Given the description of an element on the screen output the (x, y) to click on. 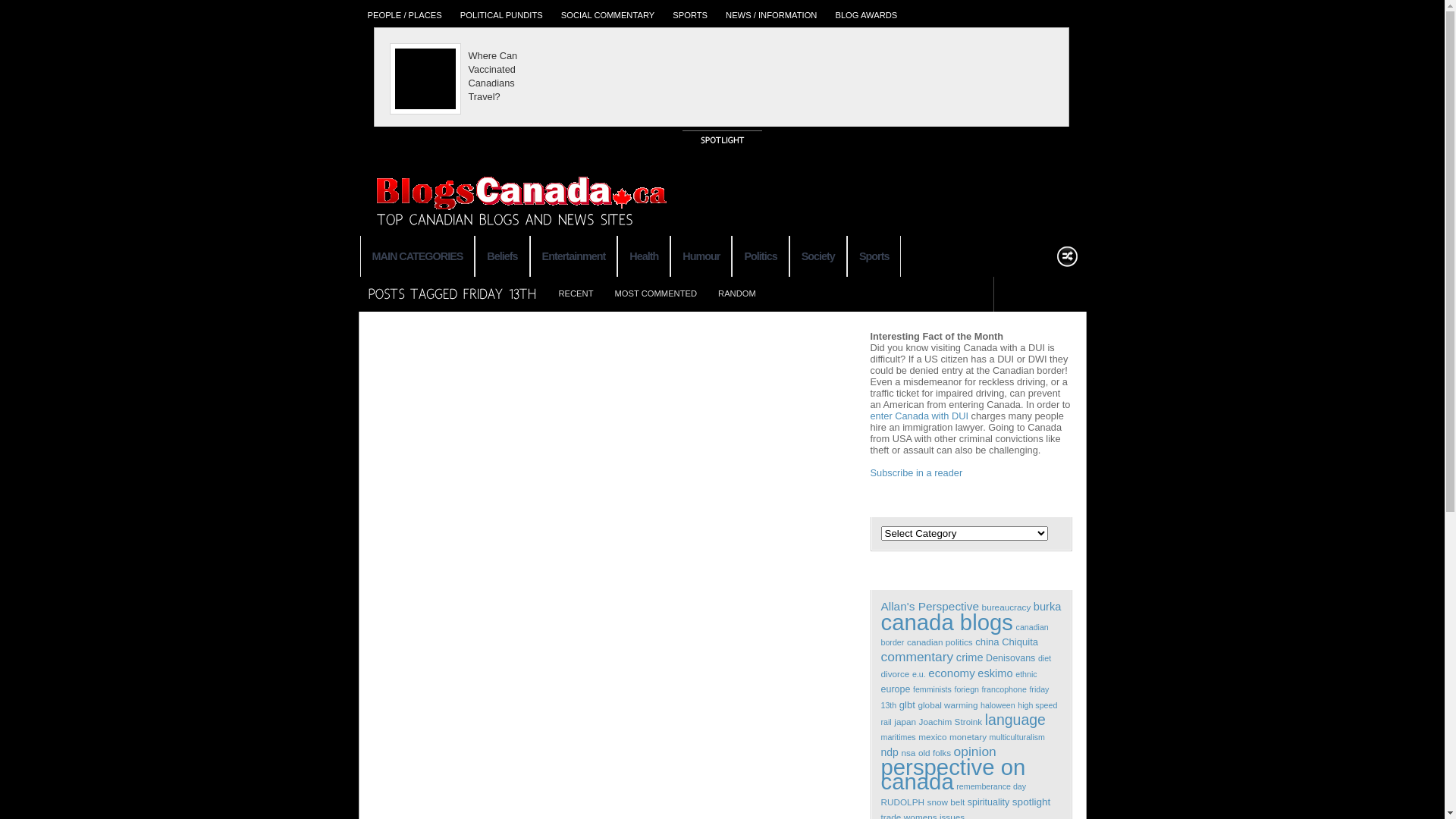
opinion Element type: text (974, 751)
Subscribe in a reader Element type: text (916, 472)
Sports Element type: text (874, 255)
francophone Element type: text (1004, 688)
SPORTS Element type: text (689, 13)
> Element type: text (1077, 74)
  Element type: text (1038, 293)
Denisovans Element type: text (1010, 657)
US Land Border Opens to Canadians Element type: text (840, 66)
When Will USA Border Open to Canadians? Element type: text (1006, 66)
ndp Element type: text (889, 752)
divorce Element type: text (895, 673)
mexico Element type: text (932, 736)
RANDOM Element type: text (736, 296)
MOST COMMENTED Element type: text (655, 296)
  Element type: text (1066, 293)
spotlight Element type: text (1031, 801)
monetary Element type: text (967, 736)
glbt Element type: text (907, 704)
Politics Element type: text (759, 255)
Pre-Entry COVID Test No Longer Required at Canadian Border Element type: text (673, 73)
high speed rail Element type: text (969, 713)
japan Element type: text (905, 721)
Canadian Border Now Fully Open Element type: text (506, 59)
e.u. Element type: text (918, 673)
ethnic Element type: text (1025, 673)
economy Element type: text (951, 672)
friday 13th Element type: text (965, 696)
Chiquita Element type: text (1019, 641)
NEWS / INFORMATION Element type: text (770, 13)
Beliefs Element type: text (501, 255)
nsa Element type: text (907, 752)
femminists Element type: text (932, 688)
rememberance day Element type: text (991, 785)
enter Canada with DUI Element type: text (919, 415)
< Element type: text (365, 74)
RECENT Element type: text (575, 296)
canadian border Element type: text (964, 634)
Allan's Perspective Element type: text (930, 605)
Humour Element type: text (700, 255)
foriegn Element type: text (966, 688)
canadian politics Element type: text (939, 641)
Joachim Stroink Element type: text (950, 721)
MAIN CATEGORIES Element type: text (416, 255)
BLOG AWARDS Element type: text (865, 13)
language Element type: text (1015, 719)
diet Element type: text (1044, 657)
spirituality Element type: text (988, 802)
burka Element type: text (1047, 606)
canada blogs Element type: text (947, 621)
old folks Element type: text (934, 752)
PEOPLE / PLACES Element type: text (403, 13)
RUDOLPH Element type: text (902, 801)
POLITICAL PUNDITS Element type: text (501, 13)
global warming Element type: text (947, 704)
Society Element type: text (818, 255)
bureaucracy Element type: text (1006, 606)
  Element type: text (1013, 293)
multiculturalism Element type: text (1016, 736)
eskimo Element type: text (994, 673)
crime Element type: text (969, 657)
haloween Element type: text (997, 704)
commentary Element type: text (917, 656)
Entertainment Element type: text (574, 255)
Health Element type: text (643, 255)
china Element type: text (986, 641)
maritimes Element type: text (898, 736)
europe Element type: text (895, 689)
SOCIAL COMMENTARY Element type: text (608, 13)
perspective on canada Element type: text (953, 773)
snow belt Element type: text (946, 801)
